Given the description of an element on the screen output the (x, y) to click on. 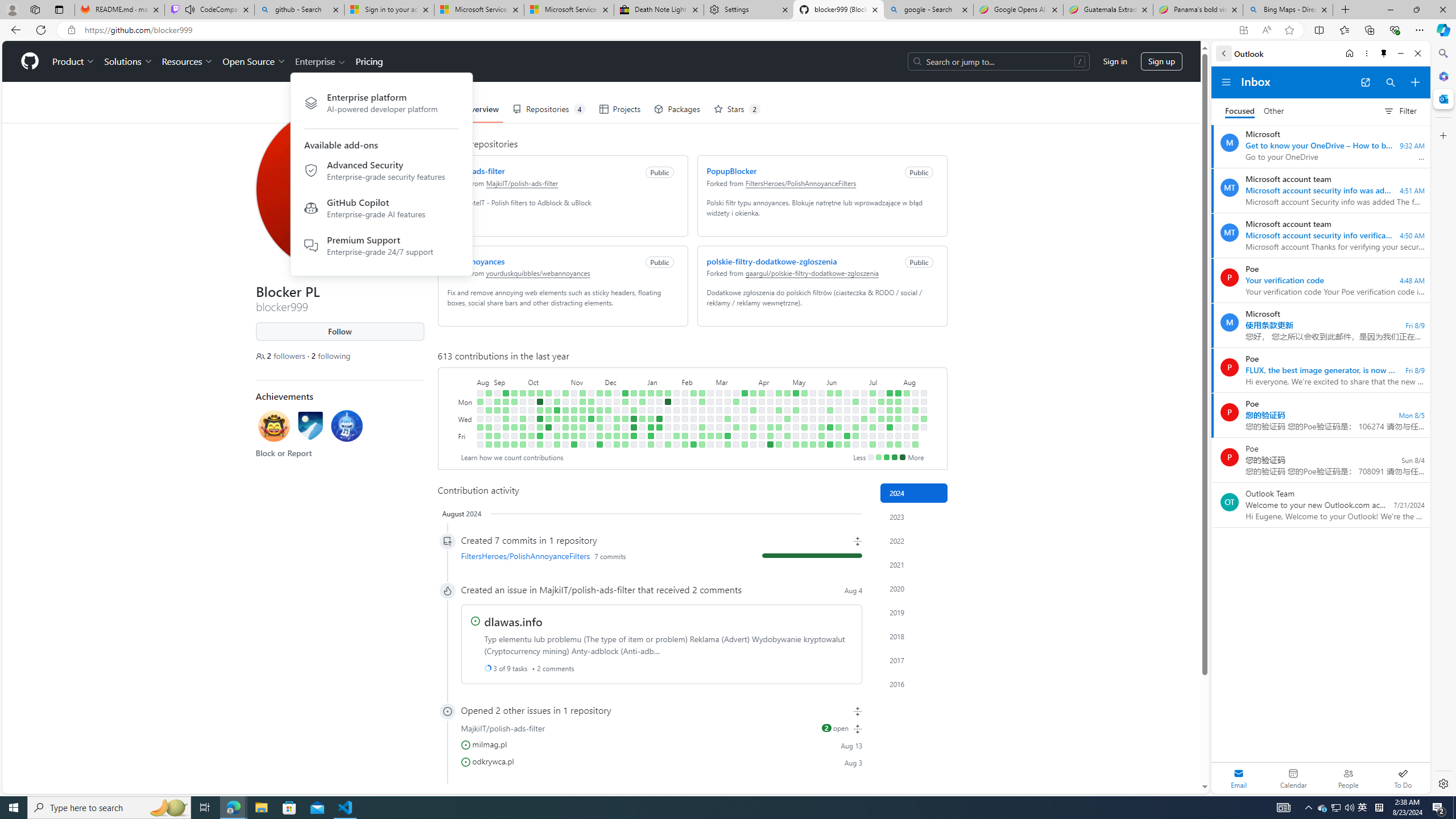
3 contributions on January 7th. (650, 392)
12 contributions on April 20th. (770, 444)
No contributions on May 15th. (804, 418)
1 contribution on September 11th. (505, 401)
polish-ads-filter (475, 170)
6 contributions on June 21st. (846, 435)
Stars 2 (737, 108)
More options (1366, 53)
November (586, 380)
No contributions on May 9th. (795, 427)
11 contributions on December 2nd. (598, 444)
No contributions on November 23rd. (591, 427)
Enterprise (319, 60)
December (624, 380)
